Given the description of an element on the screen output the (x, y) to click on. 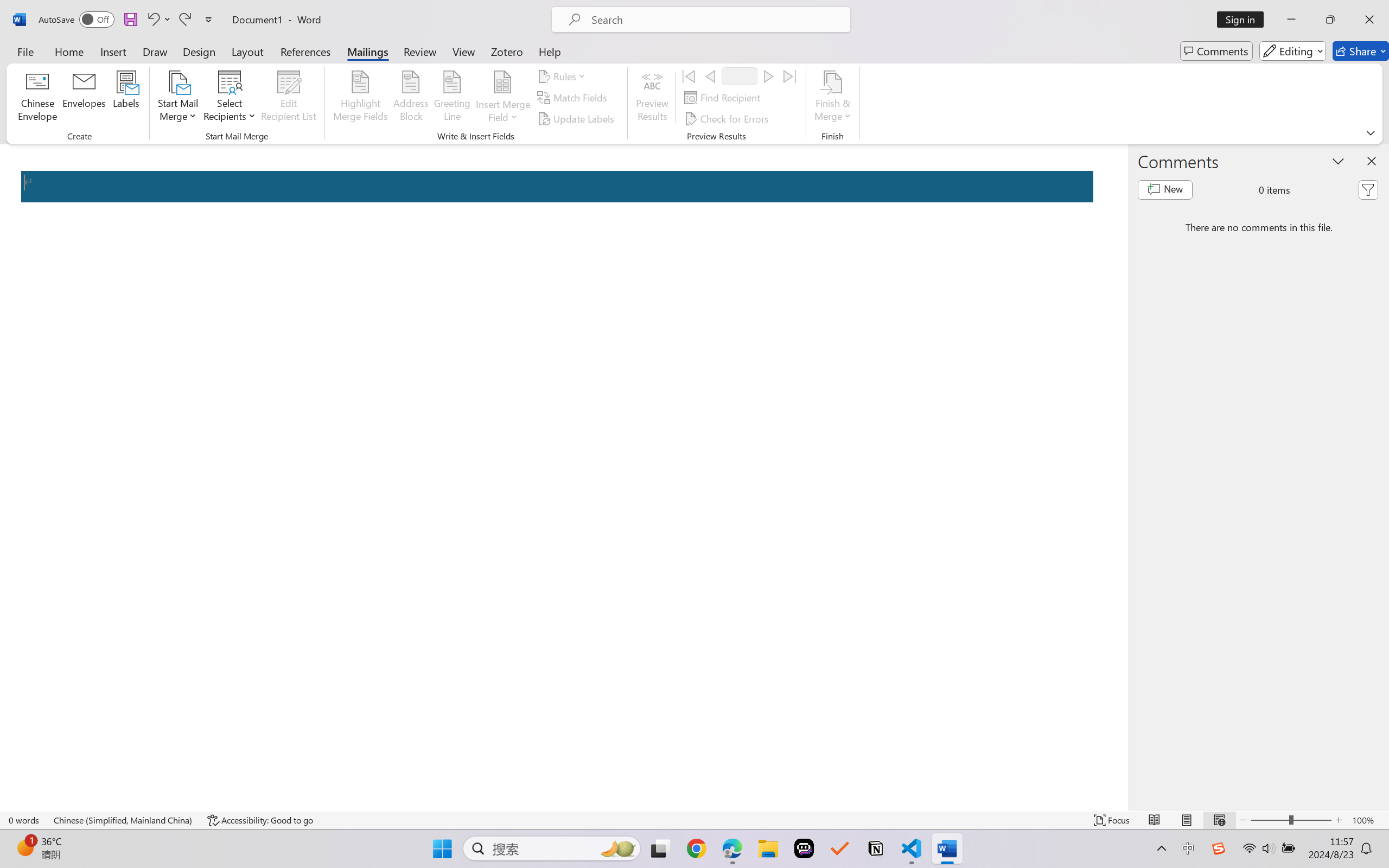
Preview Results (652, 97)
Update Labels (576, 118)
Find Recipient... (723, 97)
Address Block... (410, 97)
Finish & Merge (832, 97)
